Given the description of an element on the screen output the (x, y) to click on. 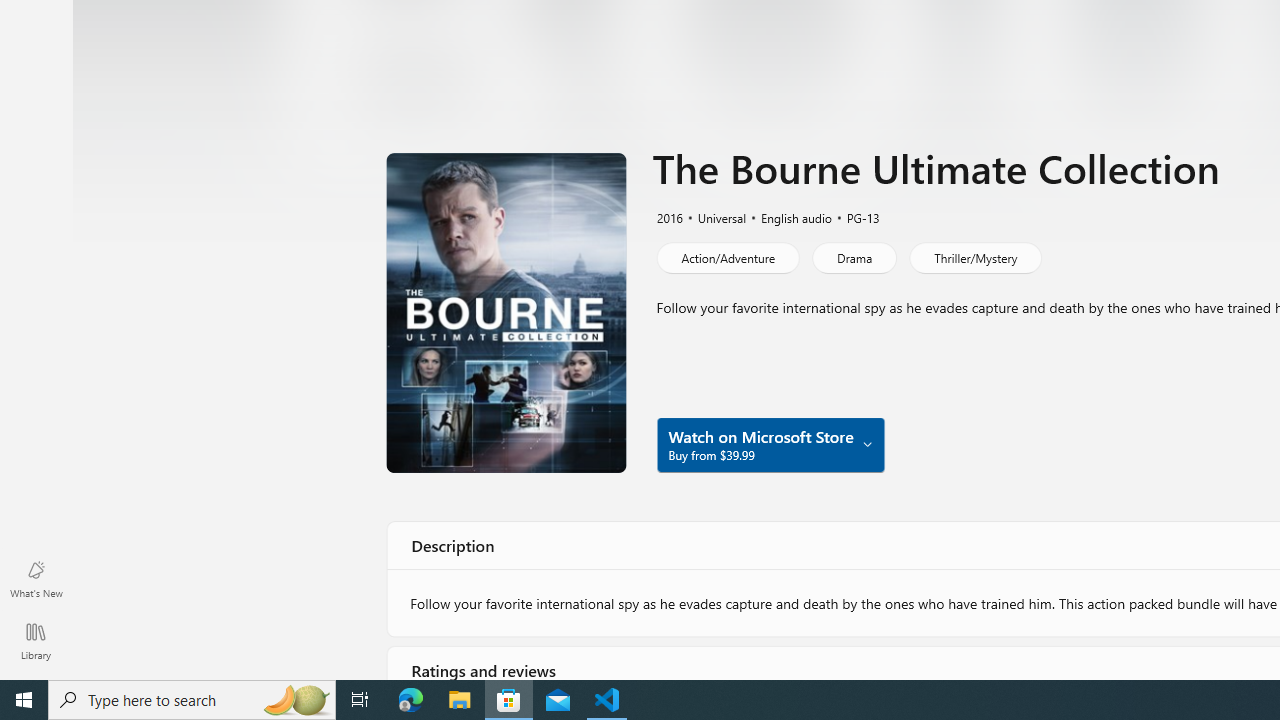
Universal (713, 217)
Watch on Microsoft Store Buy from $39.99 (769, 444)
Library (35, 640)
2016 (667, 217)
PG-13 (854, 217)
Drama (854, 257)
Thriller/Mystery (974, 257)
What's New (35, 578)
English audio (786, 217)
Action/Adventure (726, 257)
